Given the description of an element on the screen output the (x, y) to click on. 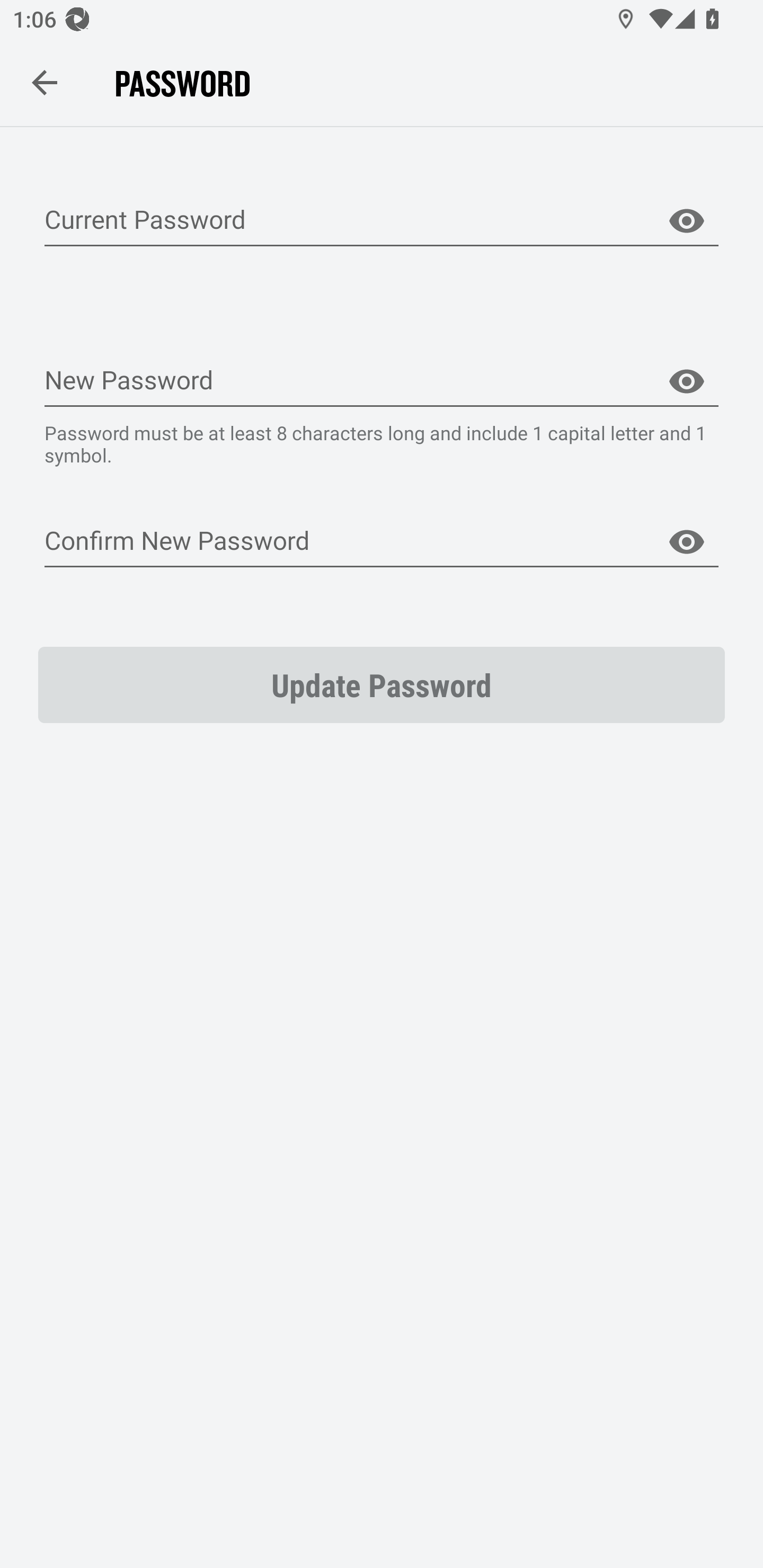
Navigate up (44, 82)
Current Password (381, 220)
Show password (686, 220)
New Password (381, 381)
Show password (686, 381)
Confirm New Password (381, 541)
Show password (686, 541)
Update Password (381, 684)
